Given the description of an element on the screen output the (x, y) to click on. 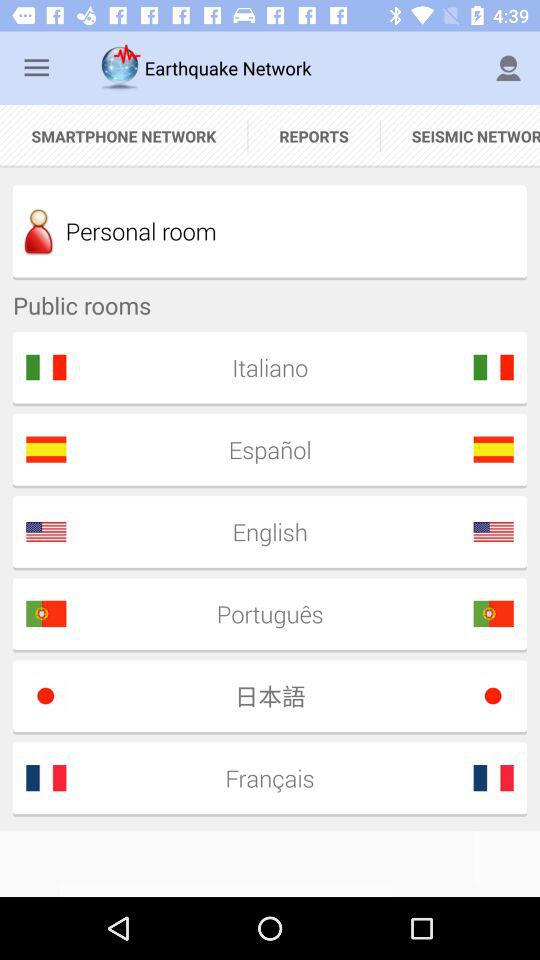
turn on app to the right of the reports icon (460, 136)
